Given the description of an element on the screen output the (x, y) to click on. 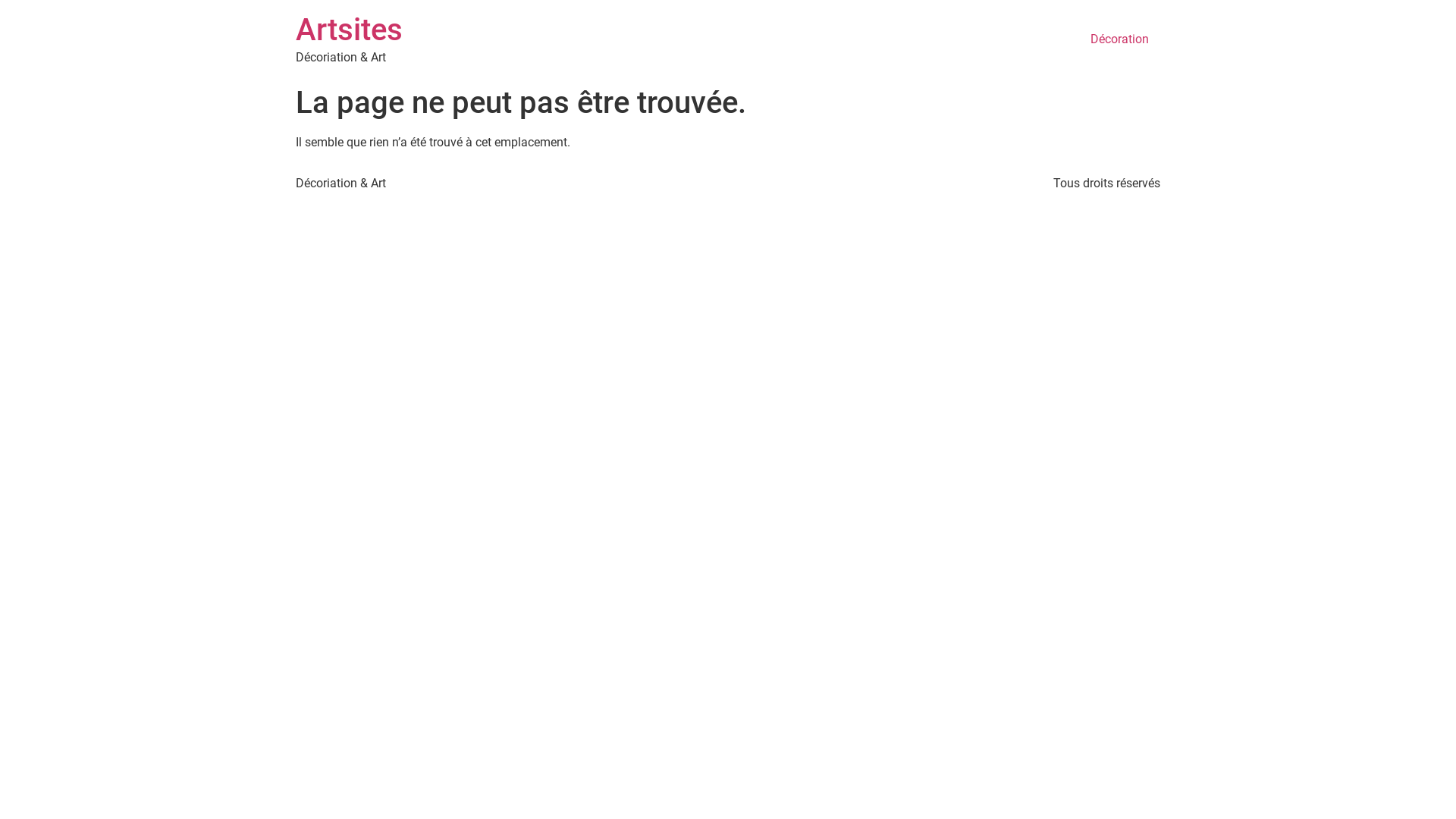
Artsites Element type: text (348, 29)
